Given the description of an element on the screen output the (x, y) to click on. 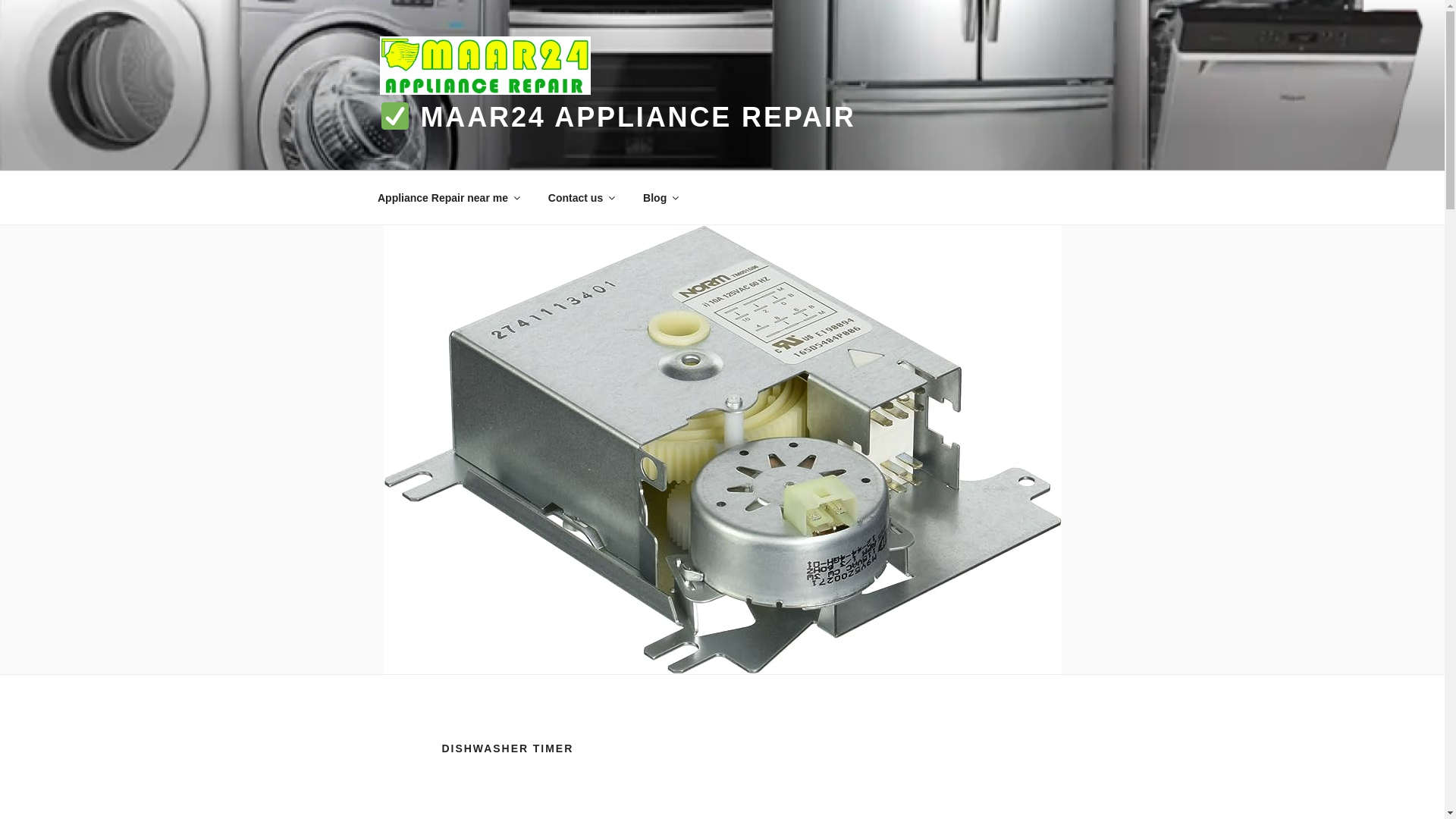
Blog (660, 197)
Appliance Repair near me (447, 197)
Contact us (580, 197)
MAAR24 APPLIANCE REPAIR (617, 116)
